Given the description of an element on the screen output the (x, y) to click on. 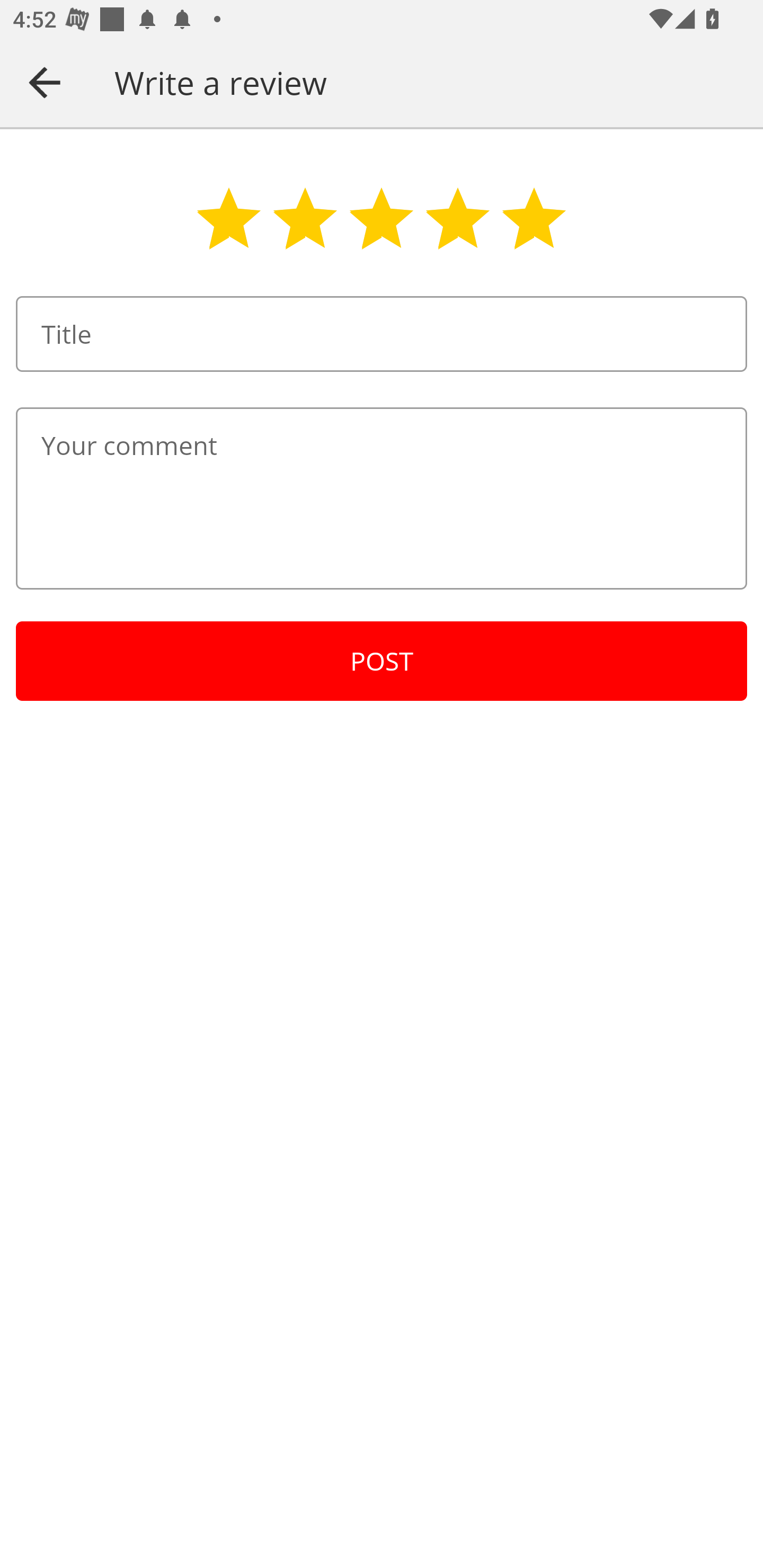
Navigate up (44, 82)
Title (381, 333)
Your comment (381, 498)
POST (381, 660)
